Given the description of an element on the screen output the (x, y) to click on. 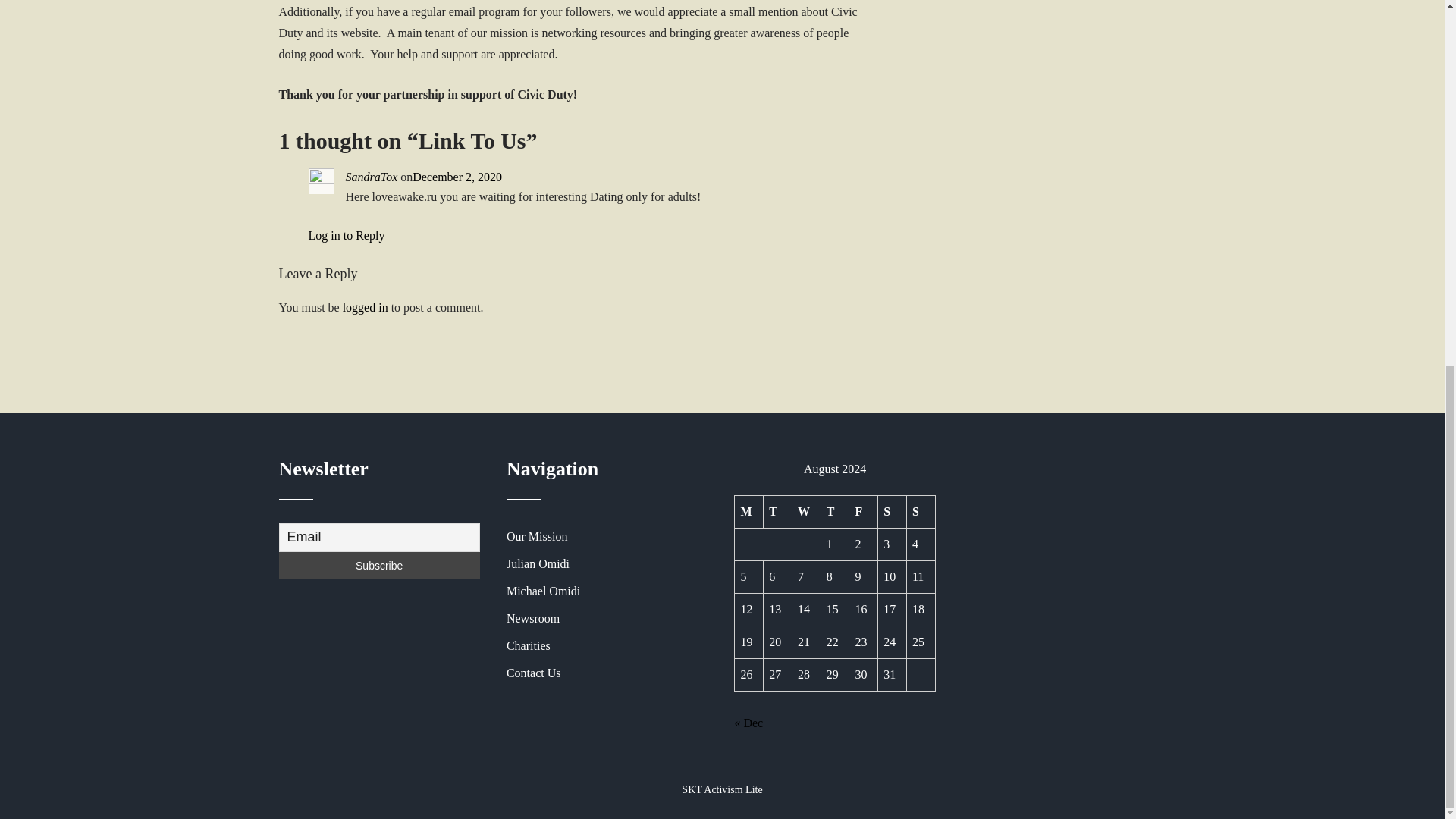
Log in to Reply (345, 235)
Newsroom (606, 618)
Michael Omidi (606, 591)
Julian Omidi (606, 564)
Subscribe (379, 565)
SandraTox (371, 176)
Subscribe (379, 565)
Charities (606, 646)
December 2, 2020 (457, 176)
logged in (365, 307)
Contact Us (606, 673)
Our Mission (606, 536)
